Given the description of an element on the screen output the (x, y) to click on. 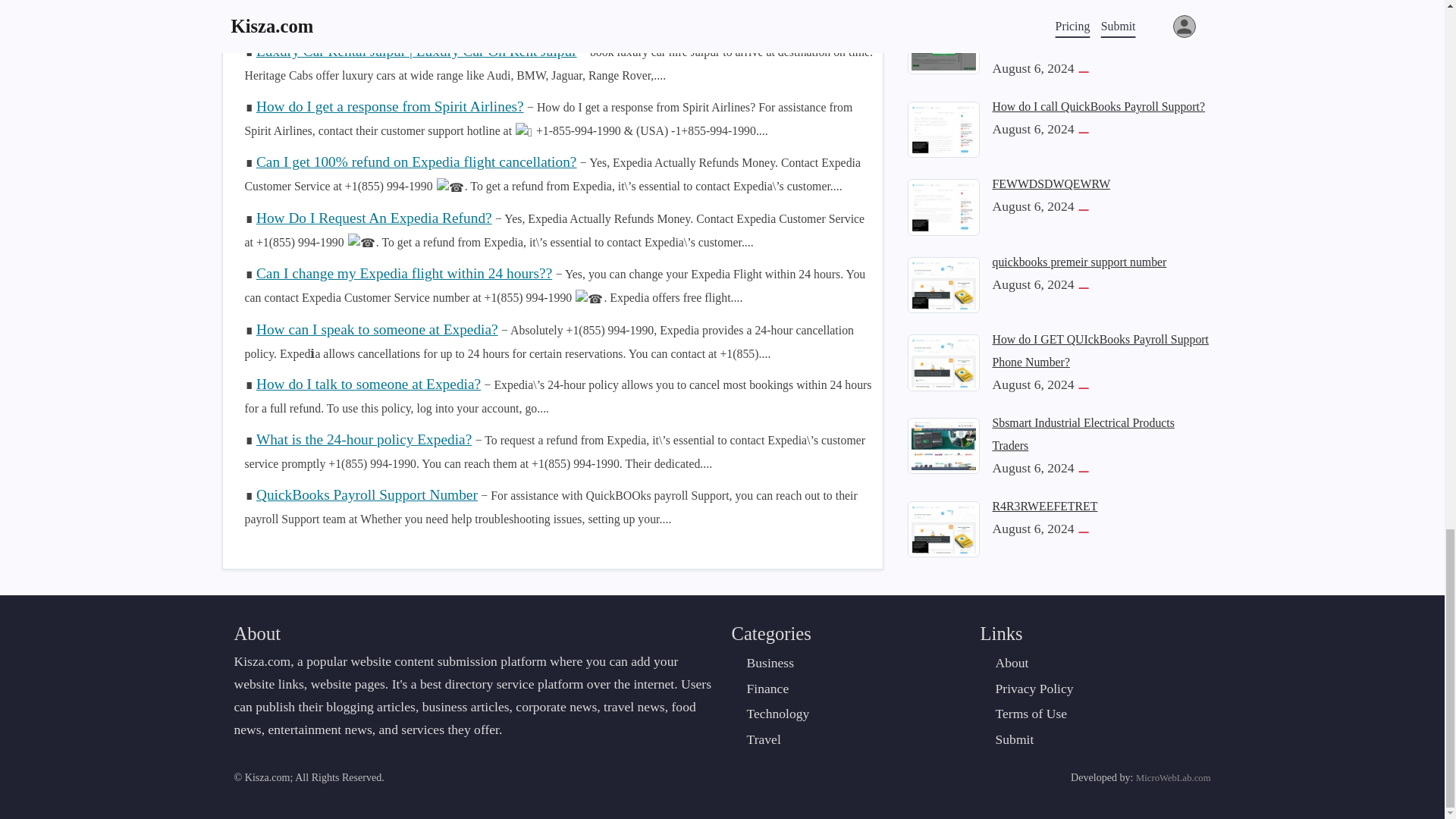
How do I talk to someone at Expedia? (368, 383)
Can I change my Expedia flight within 24 hours?? (403, 273)
QuickBooks Payroll Support Number (366, 494)
How can I speak to someone at Expedia? (376, 329)
How Do I Request An Expedia Refund? (374, 217)
How do I get a response from Spirit Airlines? (390, 106)
QuickBooks Enterprise Support Number (376, 2)
What is the 24-hour policy Expedia? (363, 439)
